Given the description of an element on the screen output the (x, y) to click on. 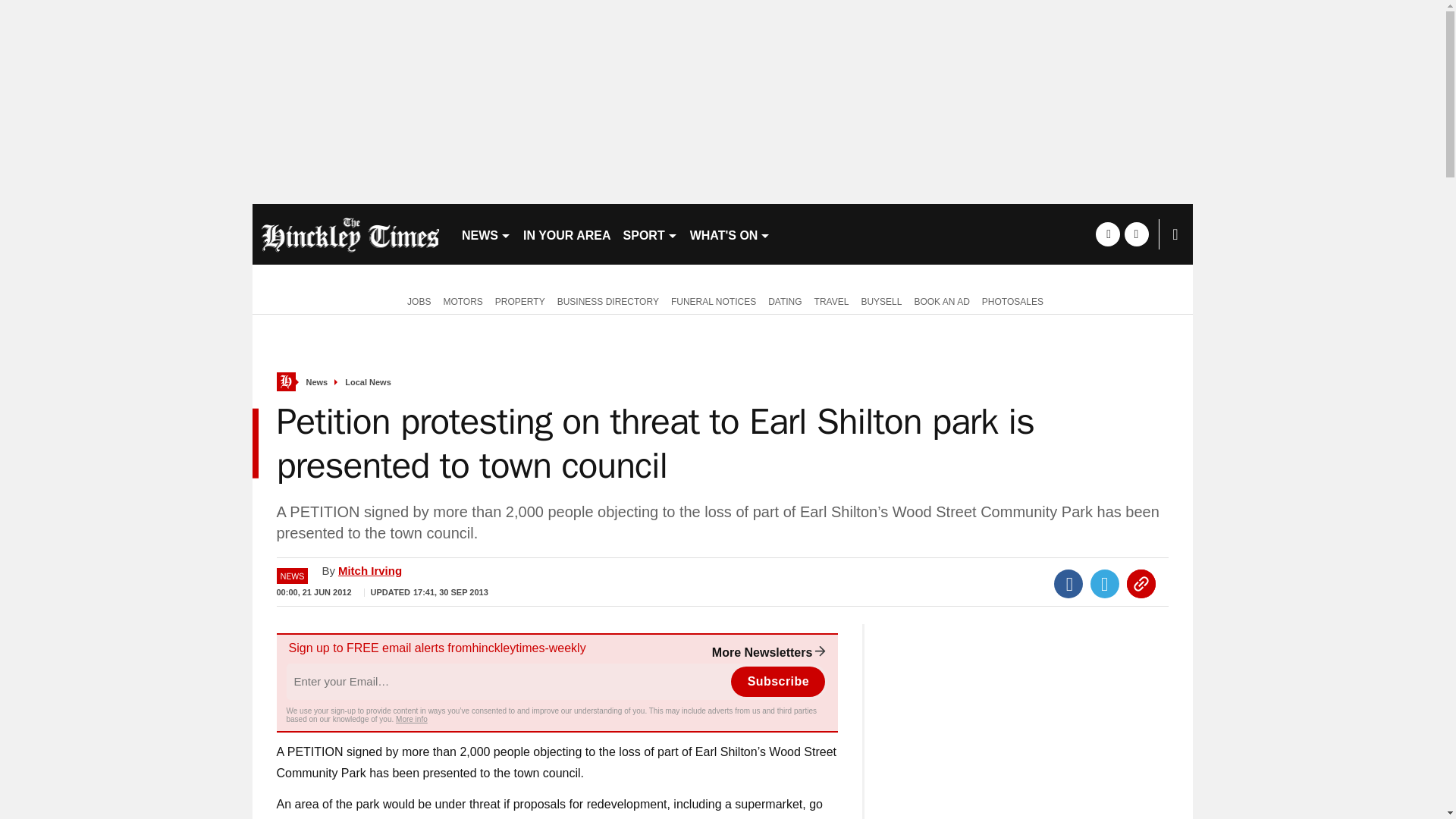
IN YOUR AREA (566, 233)
MOTORS (461, 300)
facebook (1106, 233)
TRAVEL (832, 300)
BUYSELL (880, 300)
Twitter (1104, 583)
PHOTOSALES (1012, 300)
WHAT'S ON (730, 233)
SPORT (650, 233)
PROPERTY (520, 300)
Facebook (1068, 583)
BOOK AN AD (941, 300)
JOBS (415, 300)
NEWS (485, 233)
hinckleytimes (349, 233)
